Given the description of an element on the screen output the (x, y) to click on. 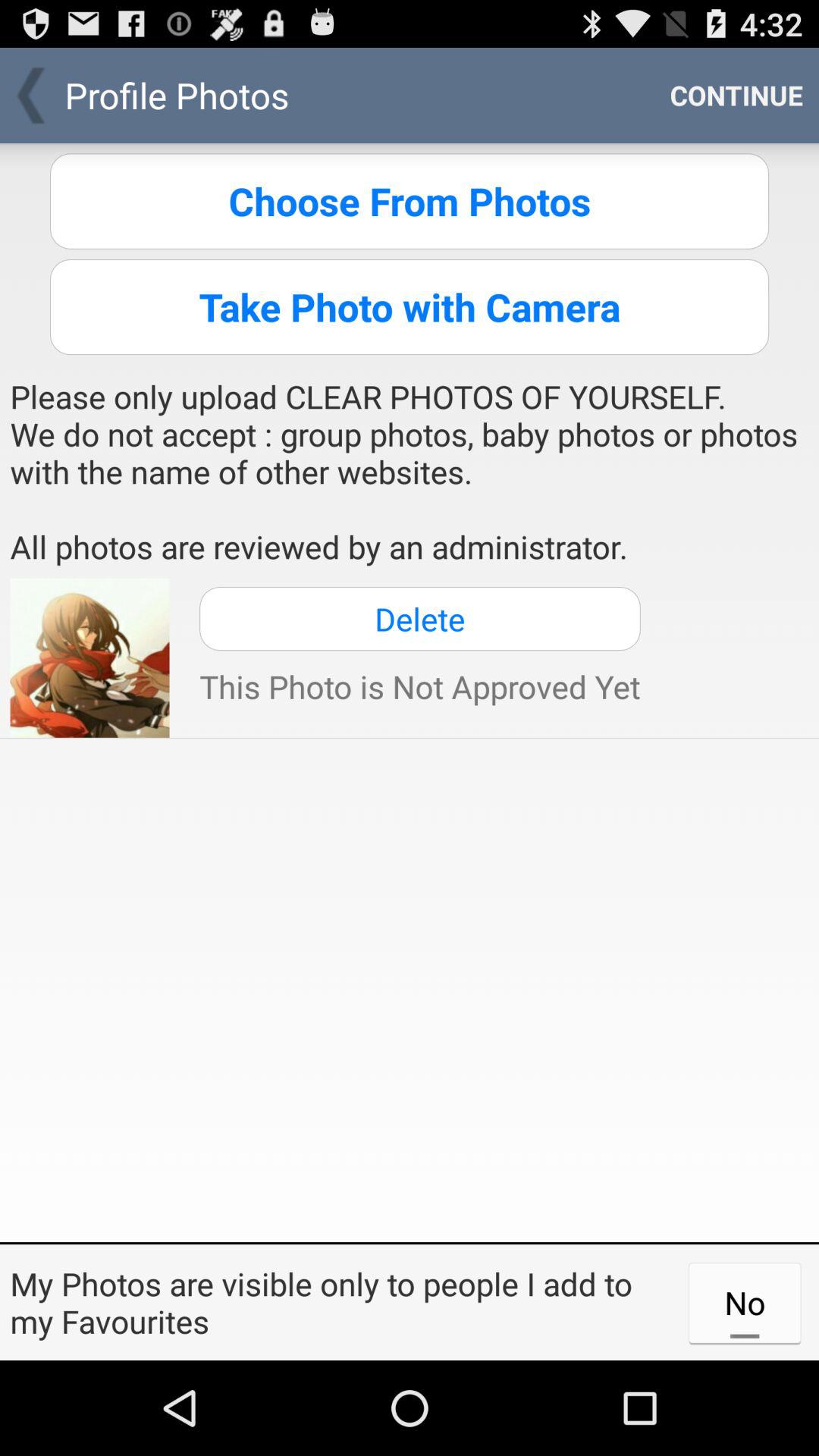
open take photo with icon (409, 306)
